Given the description of an element on the screen output the (x, y) to click on. 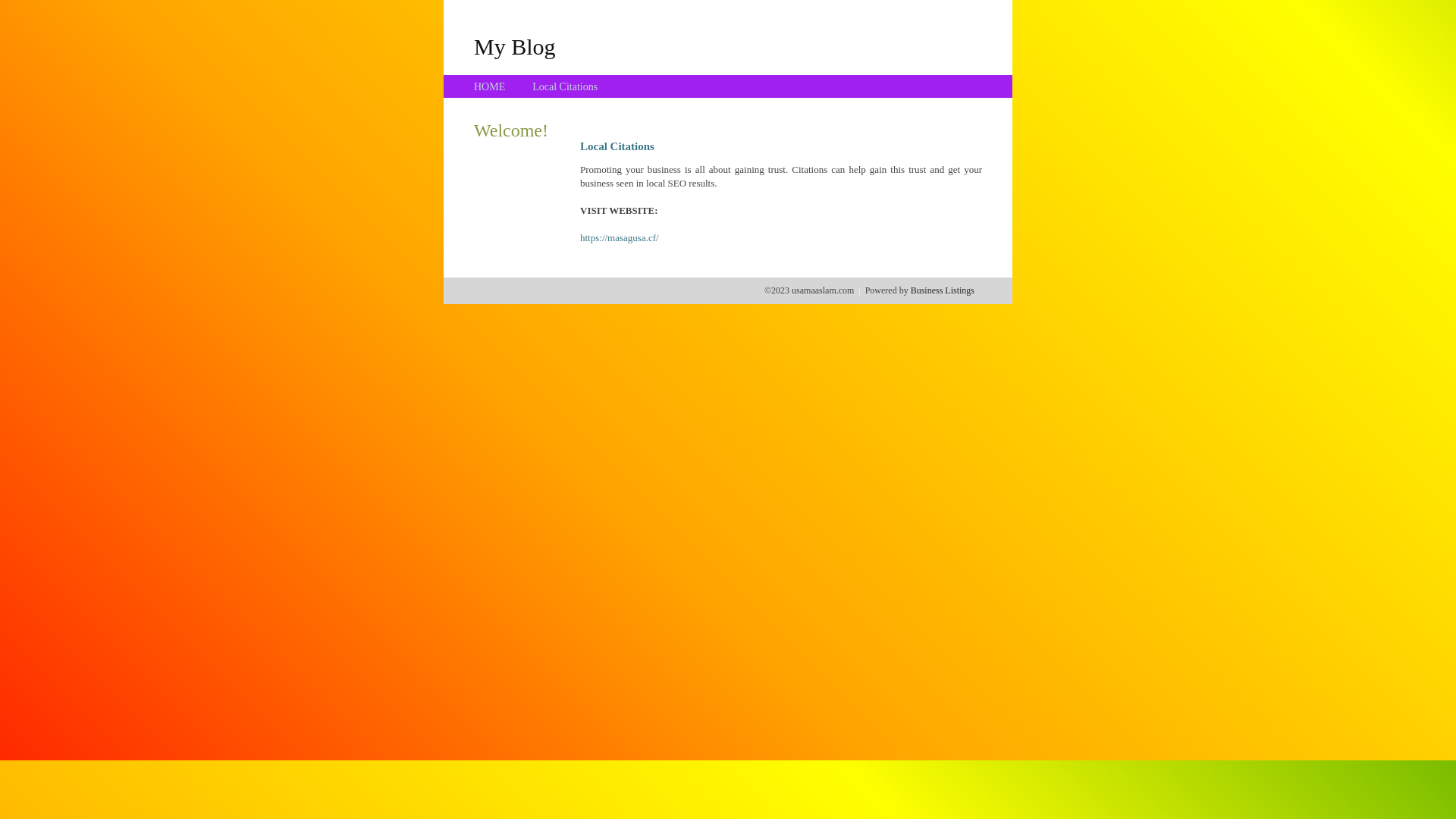
Local Citations Element type: text (564, 86)
https://masagusa.cf/ Element type: text (619, 237)
Business Listings Element type: text (942, 290)
HOME Element type: text (489, 86)
My Blog Element type: text (514, 46)
